Given the description of an element on the screen output the (x, y) to click on. 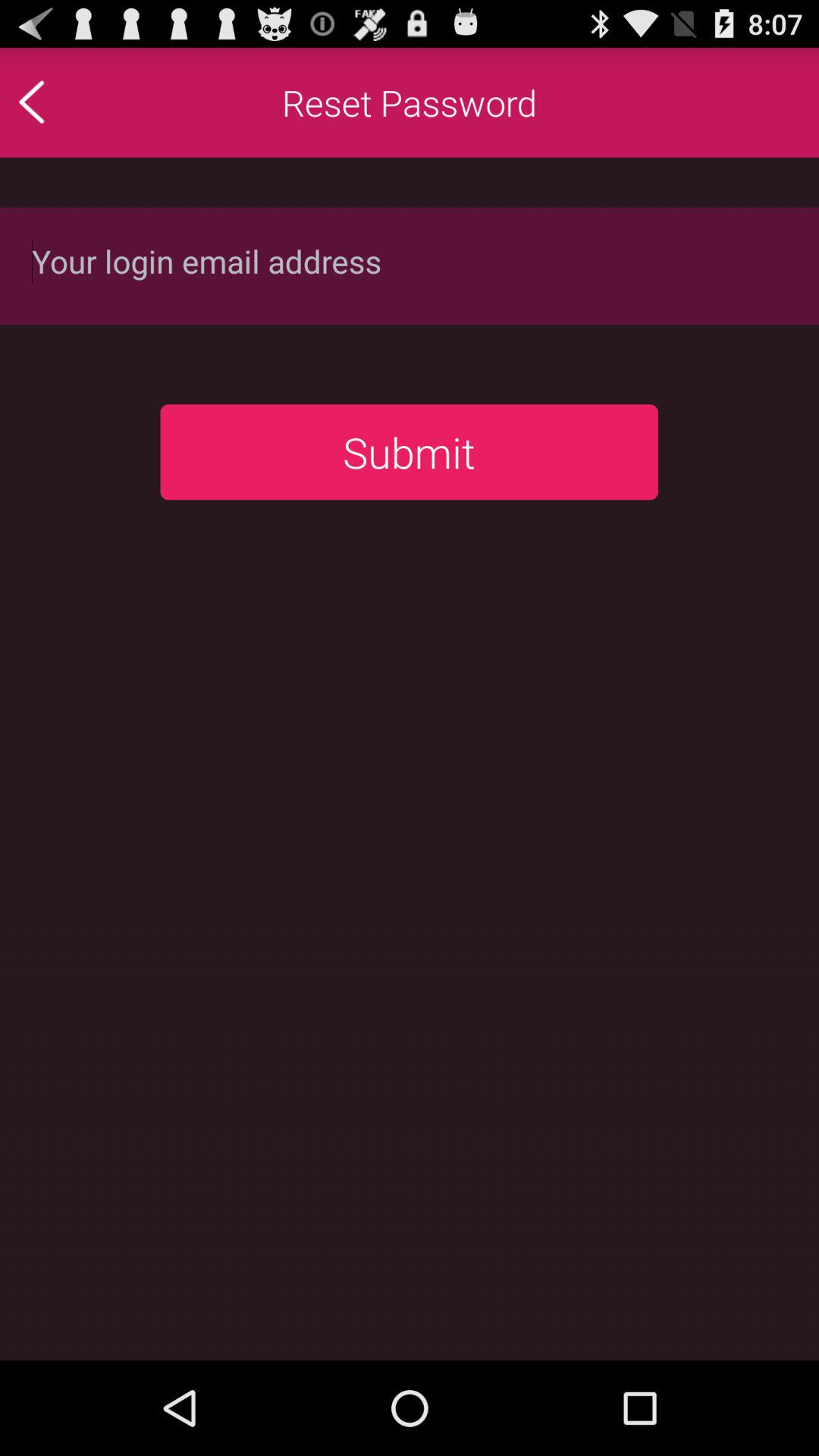
enter login credentials (409, 264)
